Given the description of an element on the screen output the (x, y) to click on. 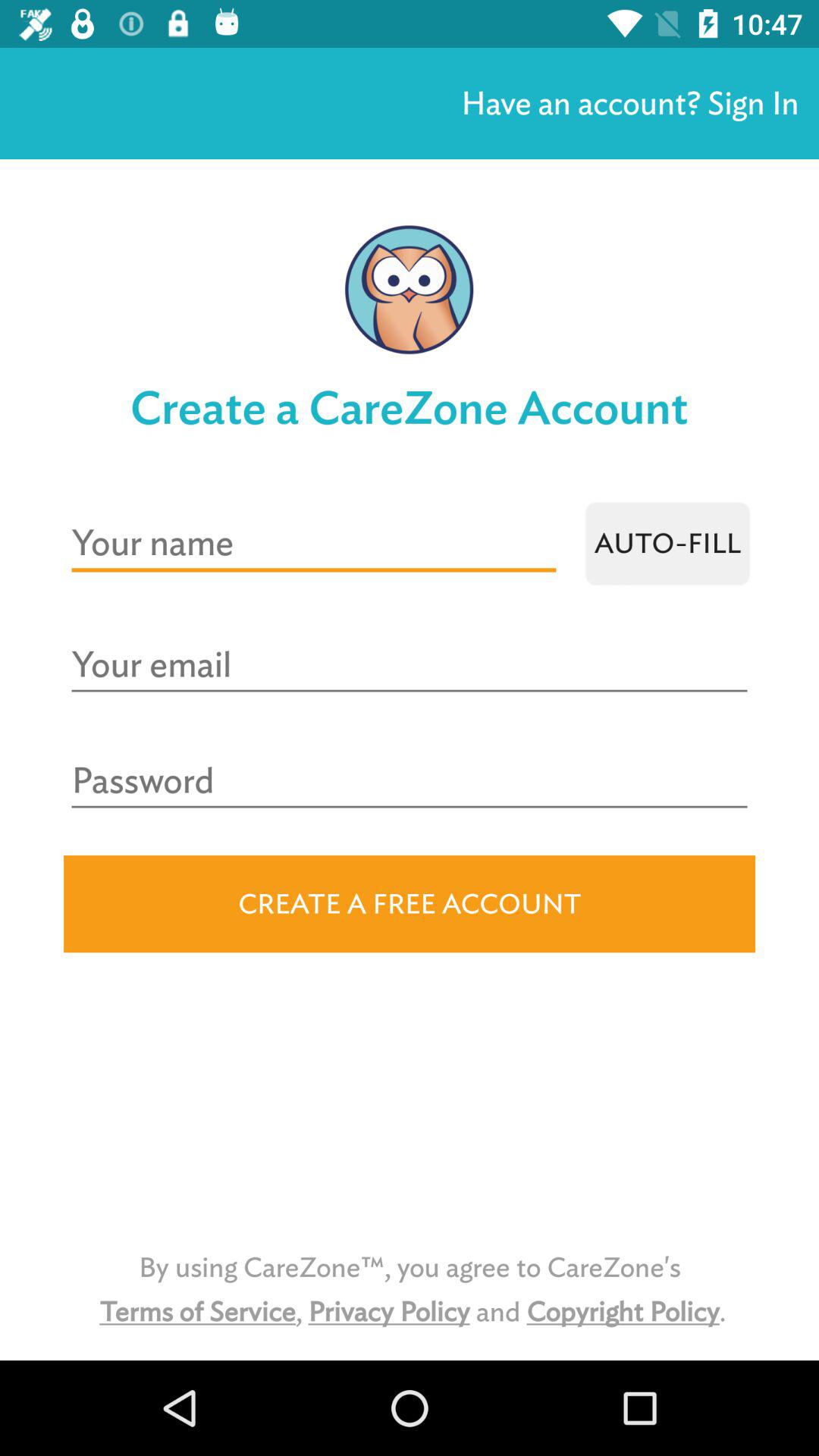
choose icon above the create a carezone (630, 103)
